Given the description of an element on the screen output the (x, y) to click on. 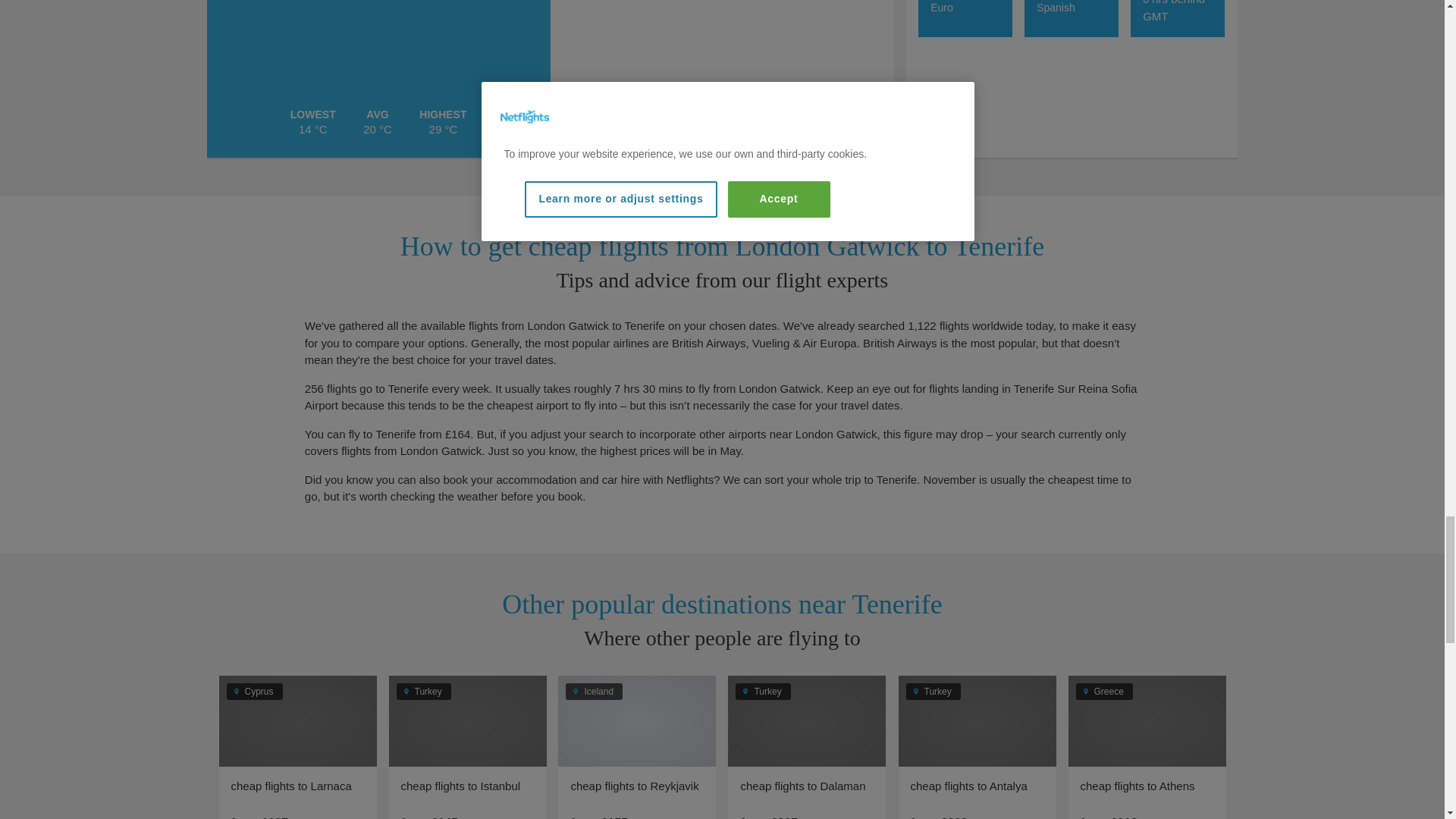
Spanish (1055, 7)
Euro (941, 7)
